Given the description of an element on the screen output the (x, y) to click on. 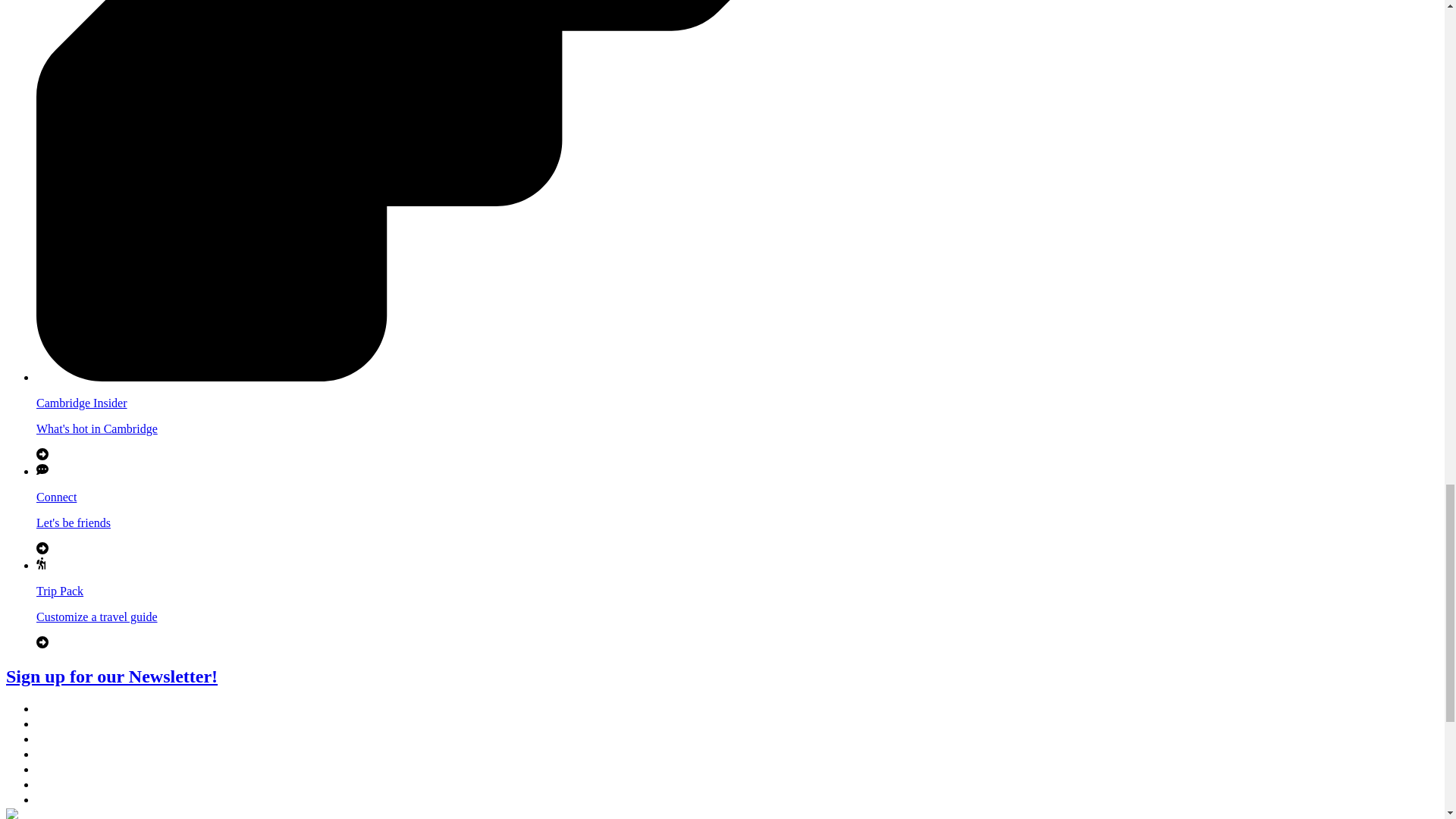
Sign up for our Newsletter! (110, 676)
